Given the description of an element on the screen output the (x, y) to click on. 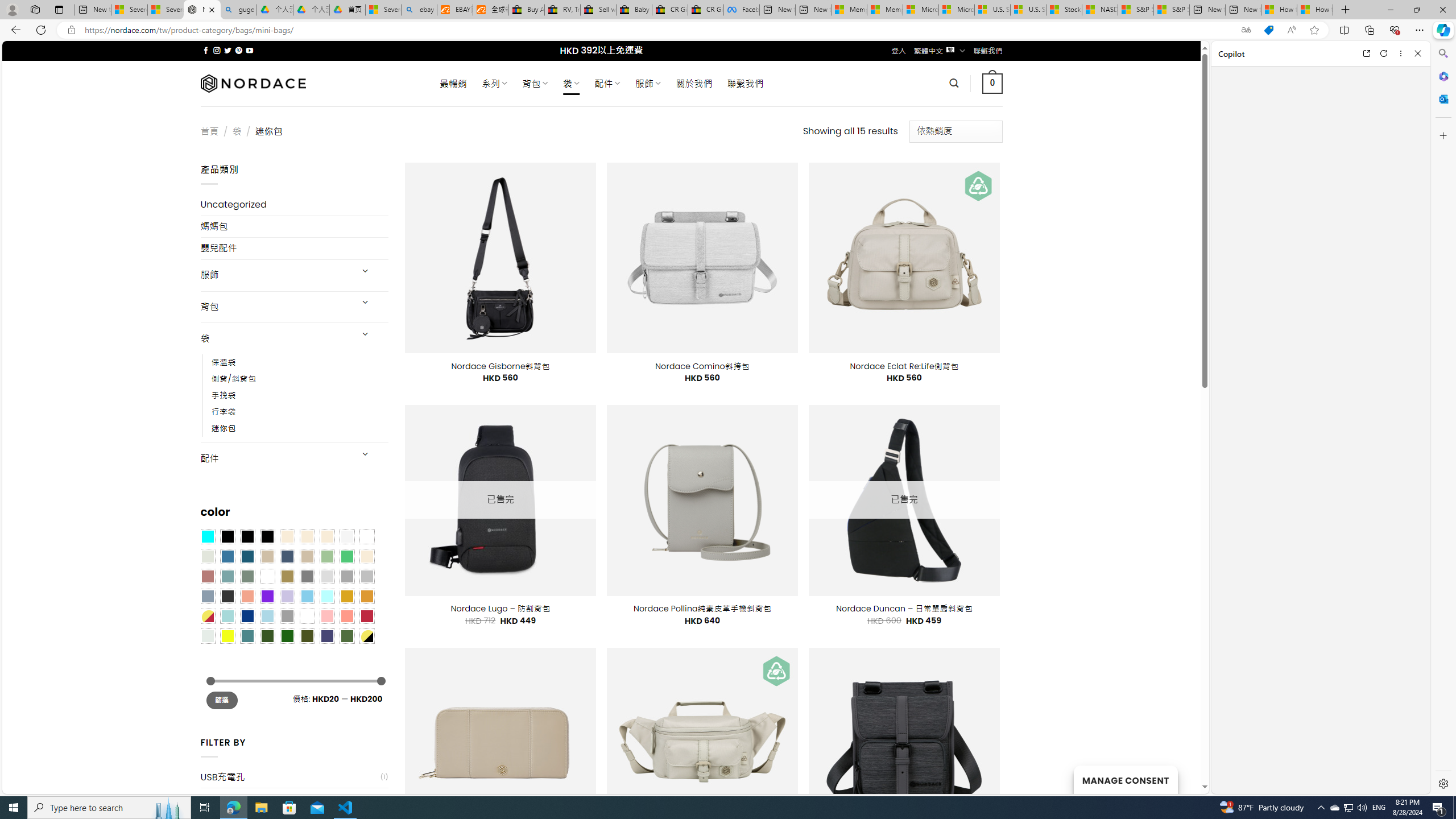
Show translate options (1245, 29)
